Given the description of an element on the screen output the (x, y) to click on. 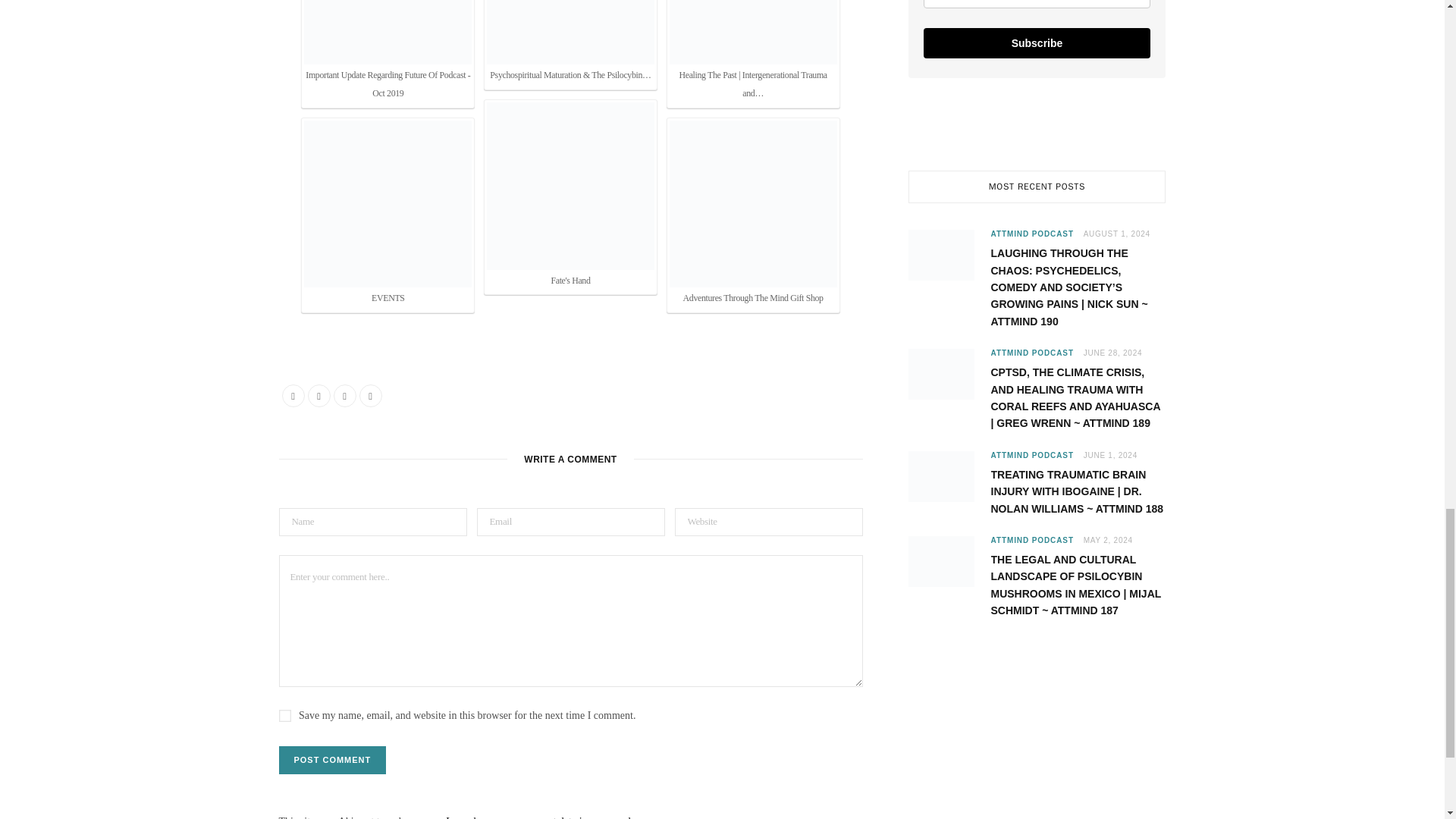
Post Comment (333, 759)
yes (285, 715)
Adventures Through The Mind Gift Shop (753, 204)
Important Update Regarding Future Of Podcast - Oct 2019 (387, 51)
Fate's Hand (569, 186)
EVENTS (387, 204)
Important Update Regarding Future Of Podcast - Oct 2019 (387, 32)
EVENTS (387, 214)
Fate's Hand (569, 196)
